Given the description of an element on the screen output the (x, y) to click on. 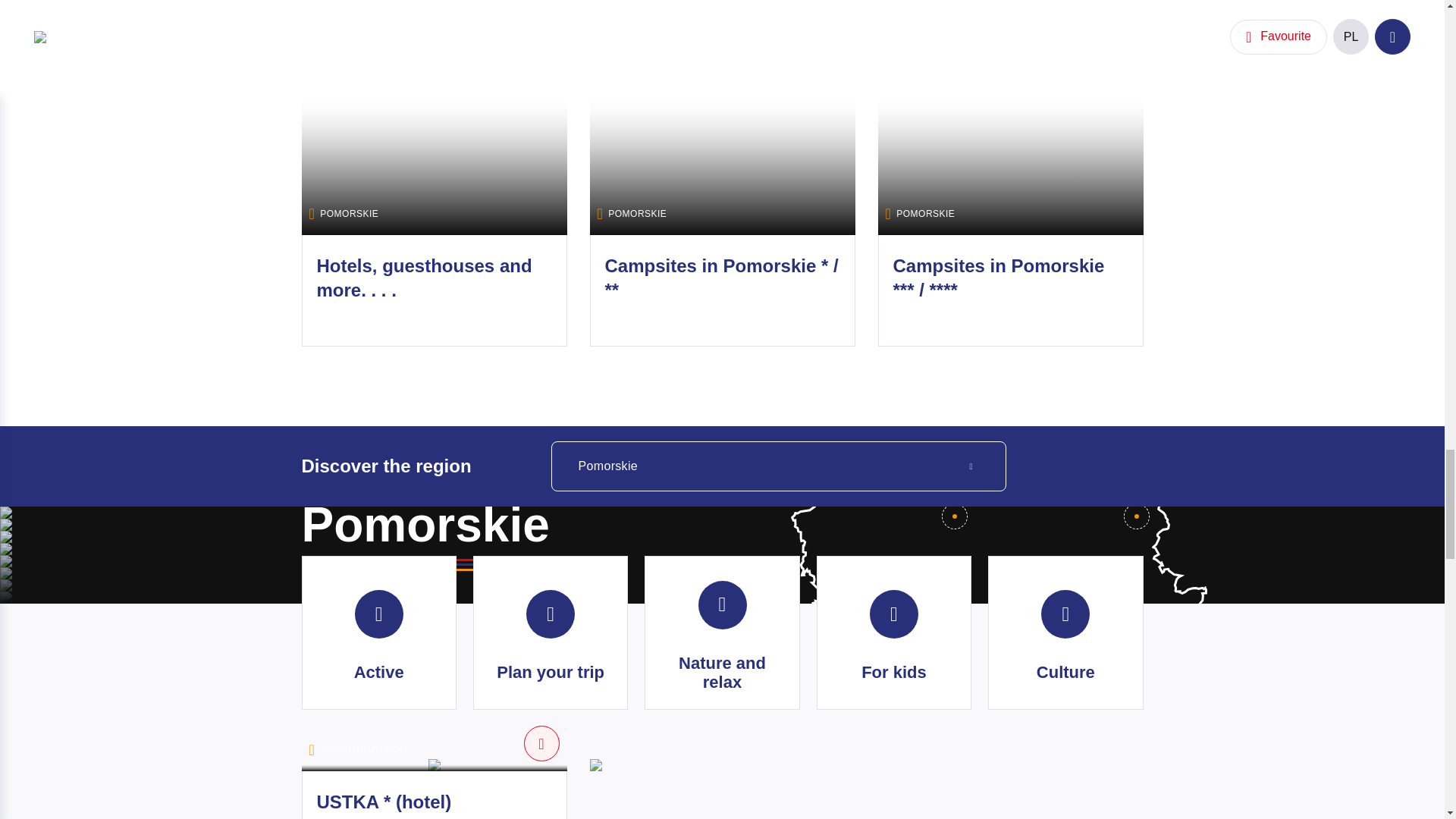
Hotels, guesthouses and more. . . . (424, 277)
Culture (1065, 633)
For kids (893, 633)
Nature and relax (722, 633)
Plan your trip (550, 633)
Active (379, 633)
